Given the description of an element on the screen output the (x, y) to click on. 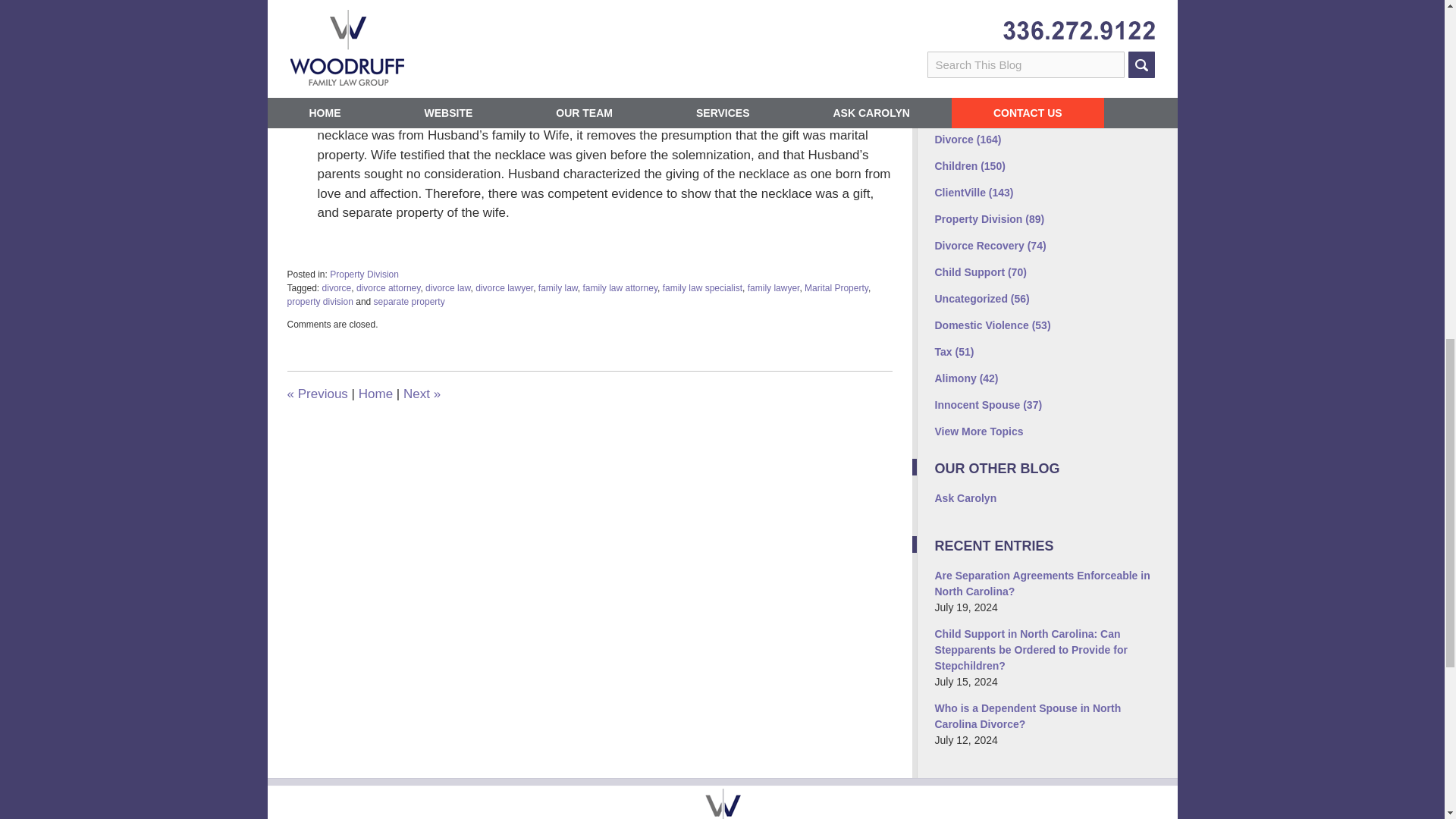
The Importance of Child Support Evidence (316, 393)
Marital Property (836, 287)
family law specialist (702, 287)
View all posts tagged with Marital Property (836, 287)
divorce lawyer (504, 287)
View all posts tagged with divorce law (447, 287)
Using a Process Server in North Carolina (422, 393)
View all posts tagged with family law attorney (620, 287)
family law (558, 287)
Twitter (981, 31)
property division (319, 301)
Facebook (949, 31)
divorce attorney (388, 287)
View all posts tagged with family law (558, 287)
family lawyer (773, 287)
